Given the description of an element on the screen output the (x, y) to click on. 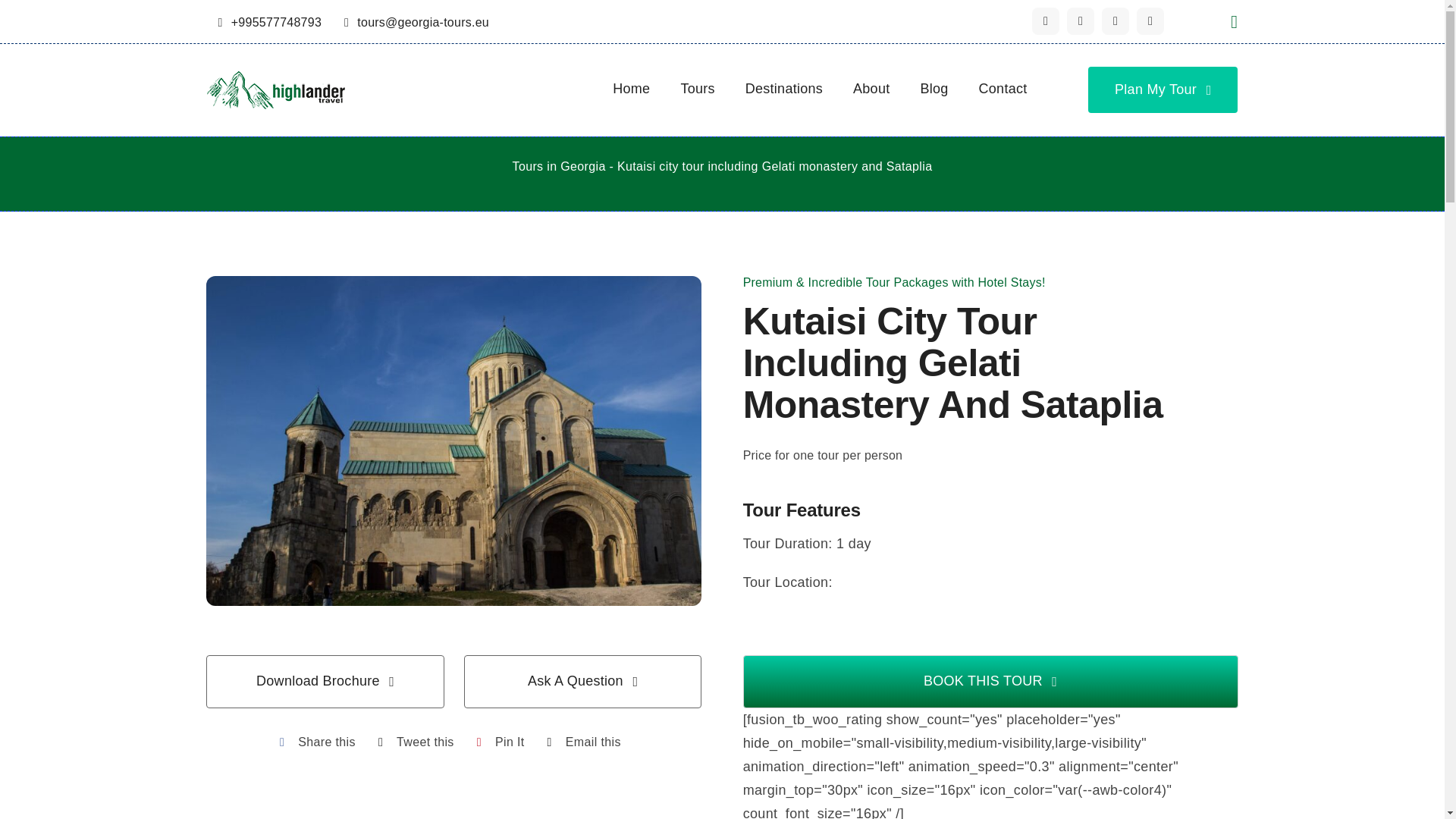
Pin It (496, 742)
Kutaisi City Tour Including Gelati Monastery And Sataplia 1 (276, 89)
BOOK THIS TOUR (990, 681)
Ask A Question (582, 681)
Tours in Georgia (558, 165)
Email this (580, 742)
Download Brochure (325, 681)
Plan My Tour (1162, 89)
Share this (313, 742)
Email (416, 20)
